Given the description of an element on the screen output the (x, y) to click on. 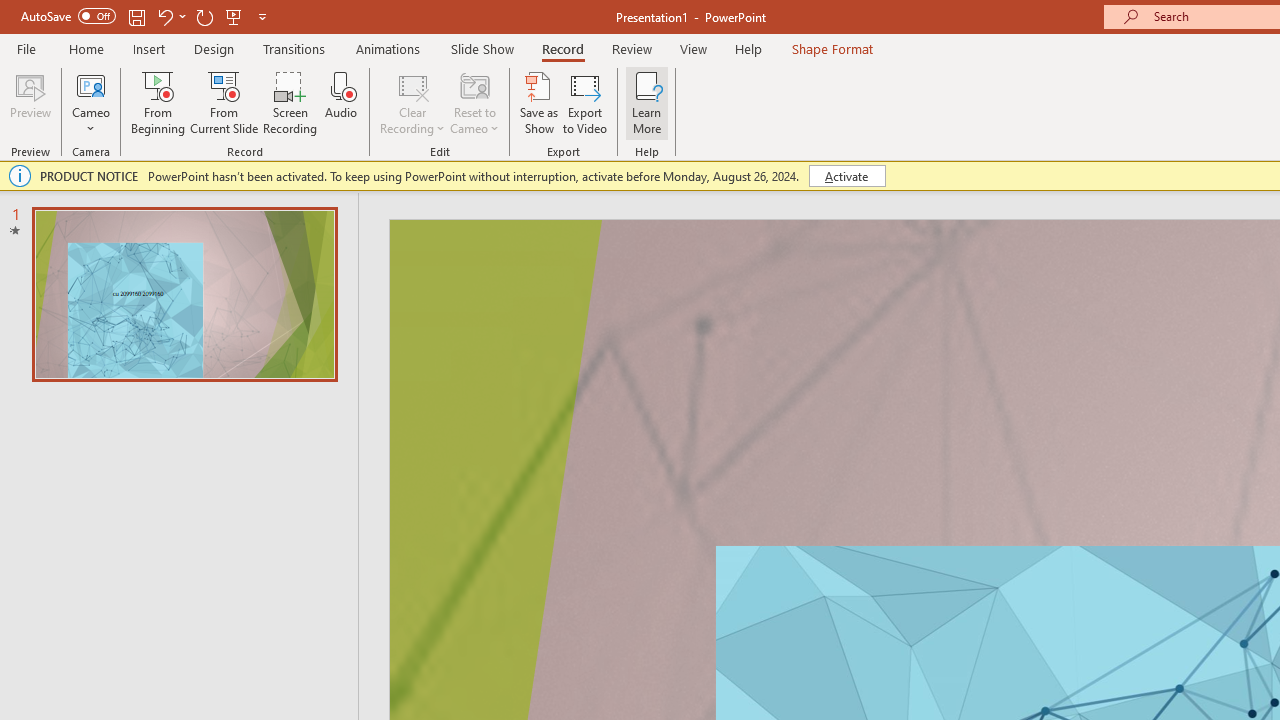
Activate (846, 175)
